Given the description of an element on the screen output the (x, y) to click on. 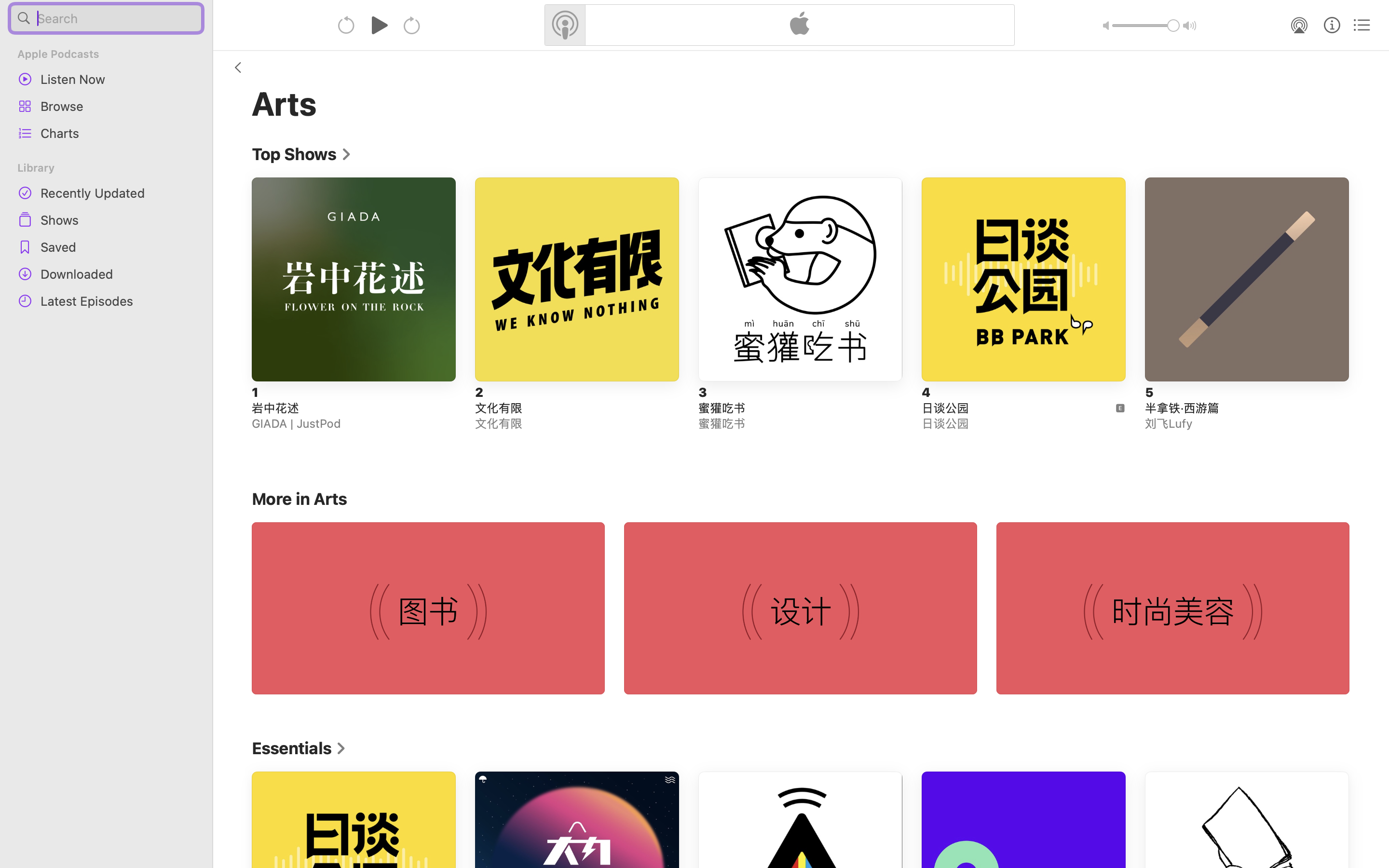
1.0 Element type: AXSlider (1145, 25)
